Given the description of an element on the screen output the (x, y) to click on. 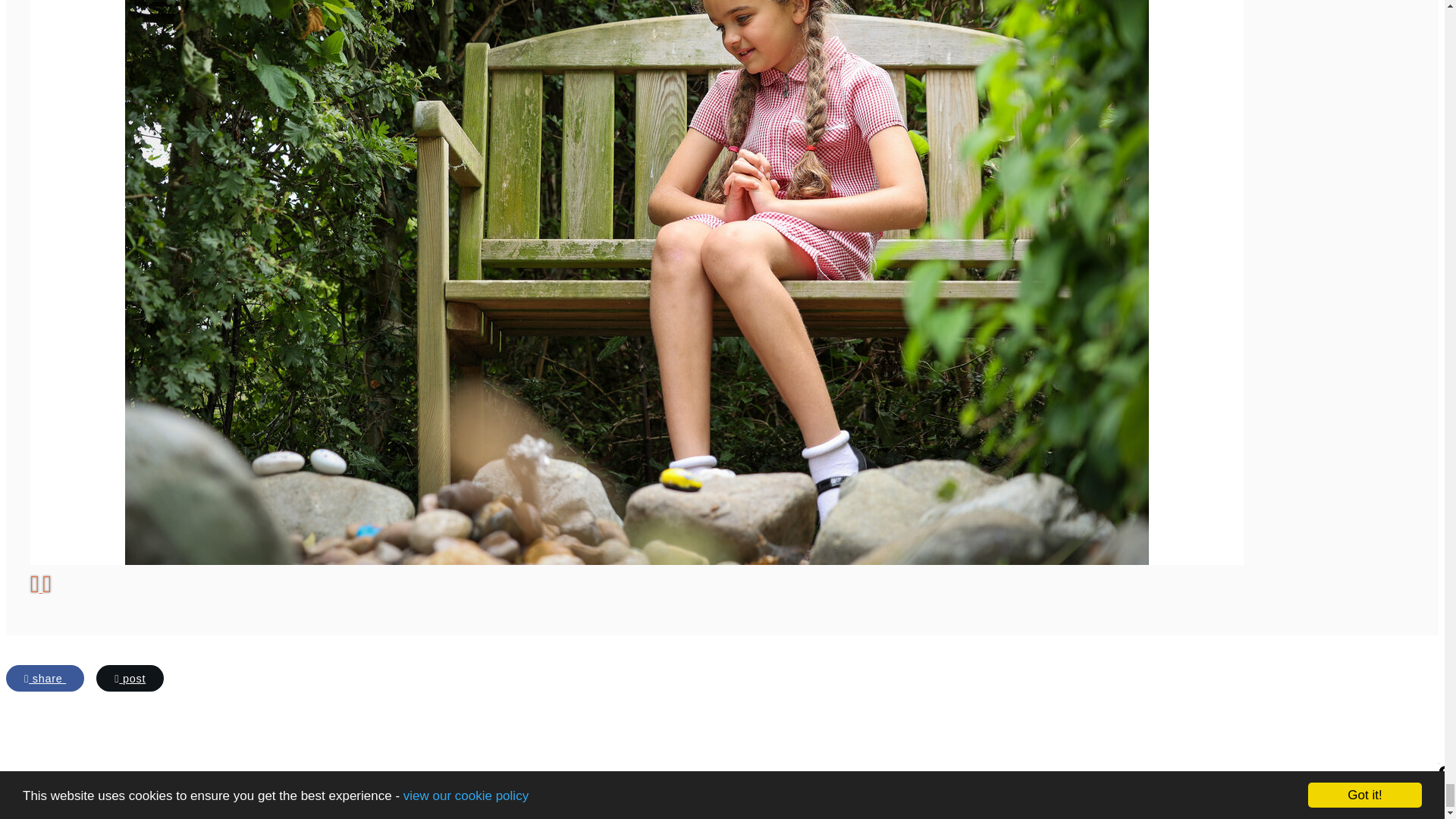
Post on X (129, 678)
Share on Facebook (44, 678)
